Given the description of an element on the screen output the (x, y) to click on. 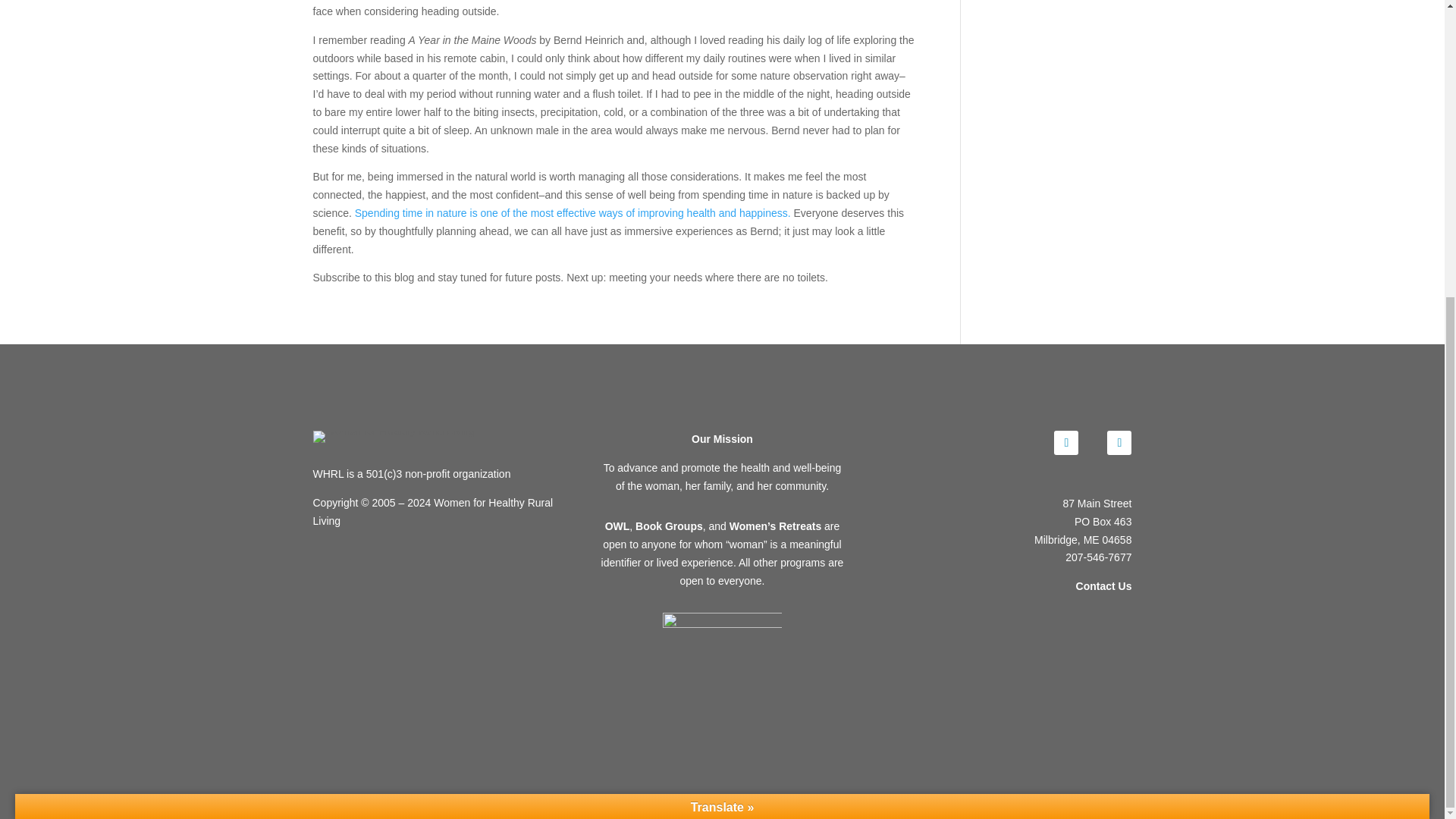
Follow on Instagram (1118, 442)
Book Groups (668, 526)
OWL (617, 526)
Women for Healthy Rural Living (393, 436)
Follow on Facebook (1066, 442)
